Given the description of an element on the screen output the (x, y) to click on. 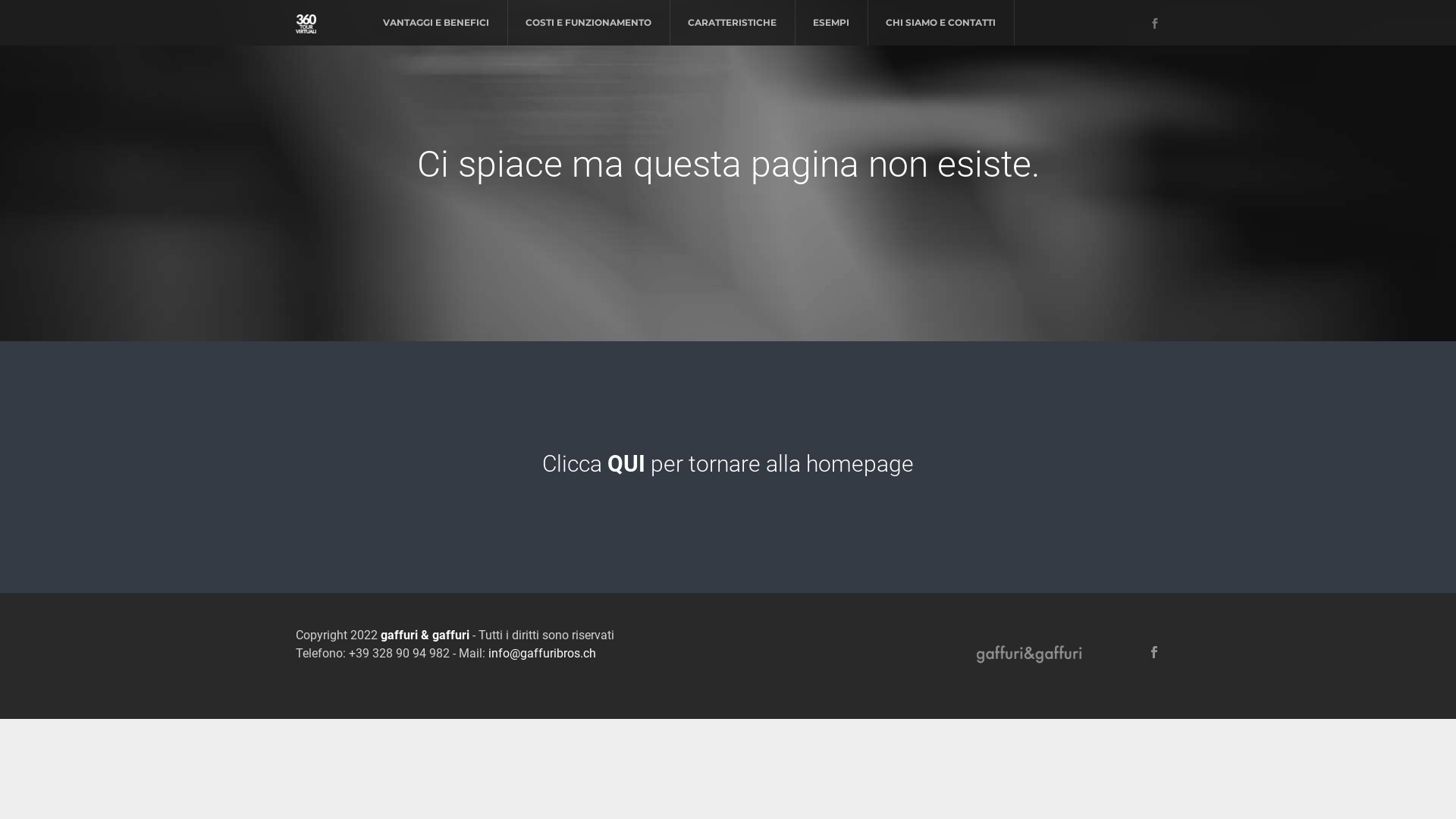
CARATTERISTICHE Element type: text (731, 22)
QUI Element type: text (628, 463)
info@gaffuribros.ch Element type: text (542, 653)
CHI SIAMO E CONTATTI Element type: text (940, 22)
ESEMPI Element type: text (830, 22)
COSTI E FUNZIONAMENTO Element type: text (588, 22)
gaffuri & gaffuri Element type: text (424, 634)
VANTAGGI E BENEFICI Element type: text (435, 22)
